Given the description of an element on the screen output the (x, y) to click on. 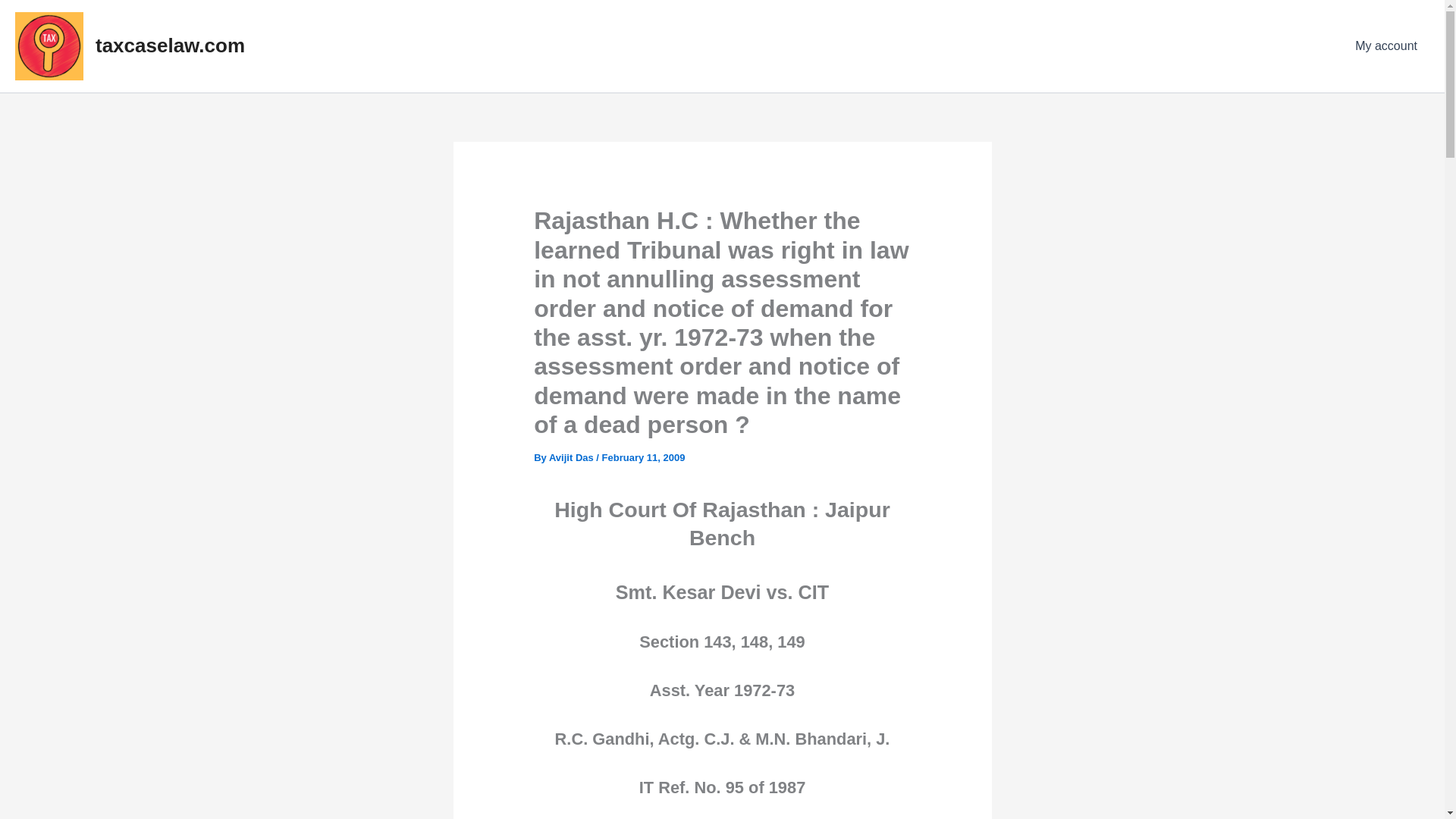
My account (1385, 45)
taxcaselaw.com (170, 45)
View all posts by Avijit Das (571, 457)
Avijit Das (571, 457)
